Given the description of an element on the screen output the (x, y) to click on. 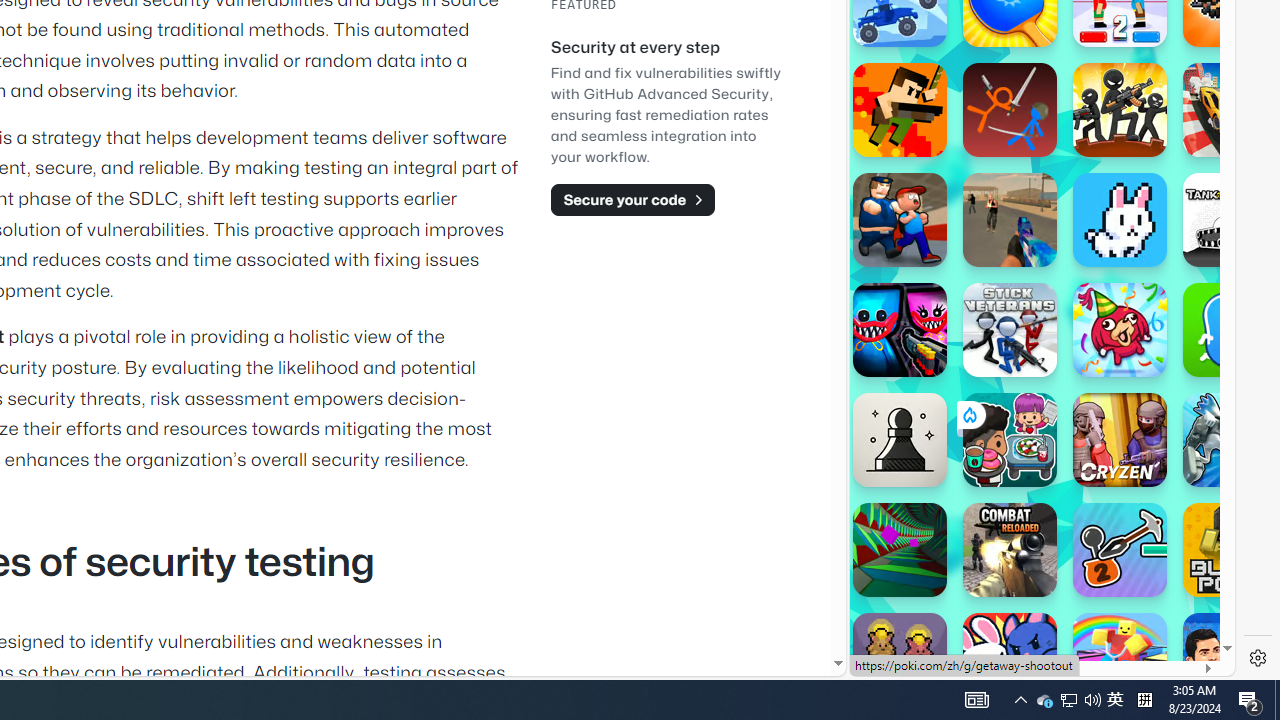
SUBWAY SURFERS - Play Online for Free! | Poki (1034, 624)
Rainbow Obby (1119, 659)
Animal Arena (1009, 659)
Combat Reloaded 2 Combat Reloaded 2 (1009, 219)
Hills of Steel Hills of Steel poki.com (943, 245)
Earth's Greatest Defender Earth's Greatest Defender (899, 109)
Crazy Cars (1229, 109)
Stick Veterans Stick Veterans (1009, 329)
Huggy Wuggy Shooter (899, 329)
Cryzen.io (1119, 439)
Combat Reloaded (1009, 549)
PartyToons (1119, 329)
